Given the description of an element on the screen output the (x, y) to click on. 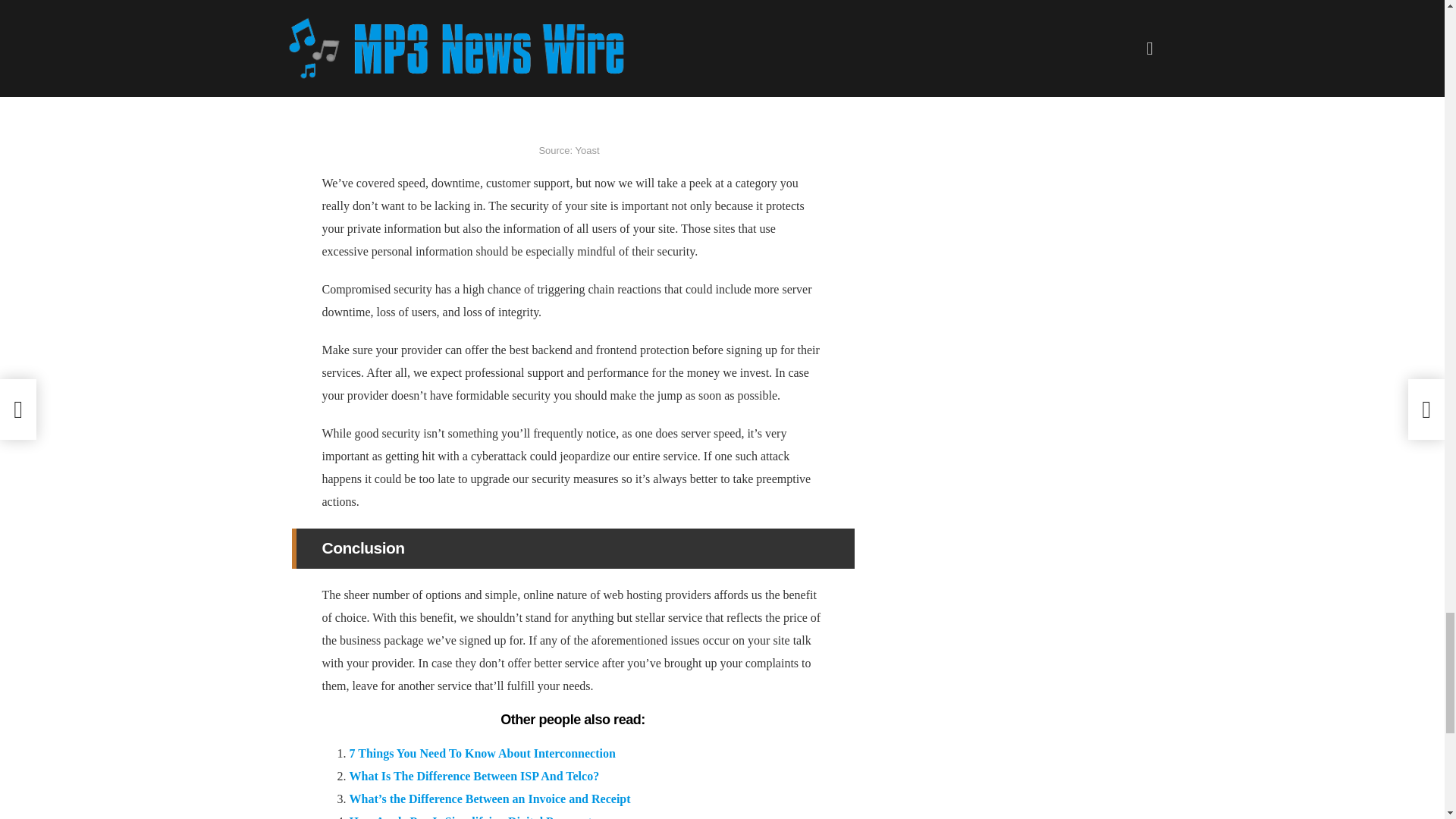
How Apple Pay Is Simplifying Digital Payments (472, 816)
7 Things You Need To Know About Interconnection (481, 753)
How Apple Pay Is Simplifying Digital Payments (472, 816)
7 Things You Need To Know About Interconnection (481, 753)
What Is The Difference Between ISP And Telco? (473, 775)
What Is The Difference Between ISP And Telco? (473, 775)
